Given the description of an element on the screen output the (x, y) to click on. 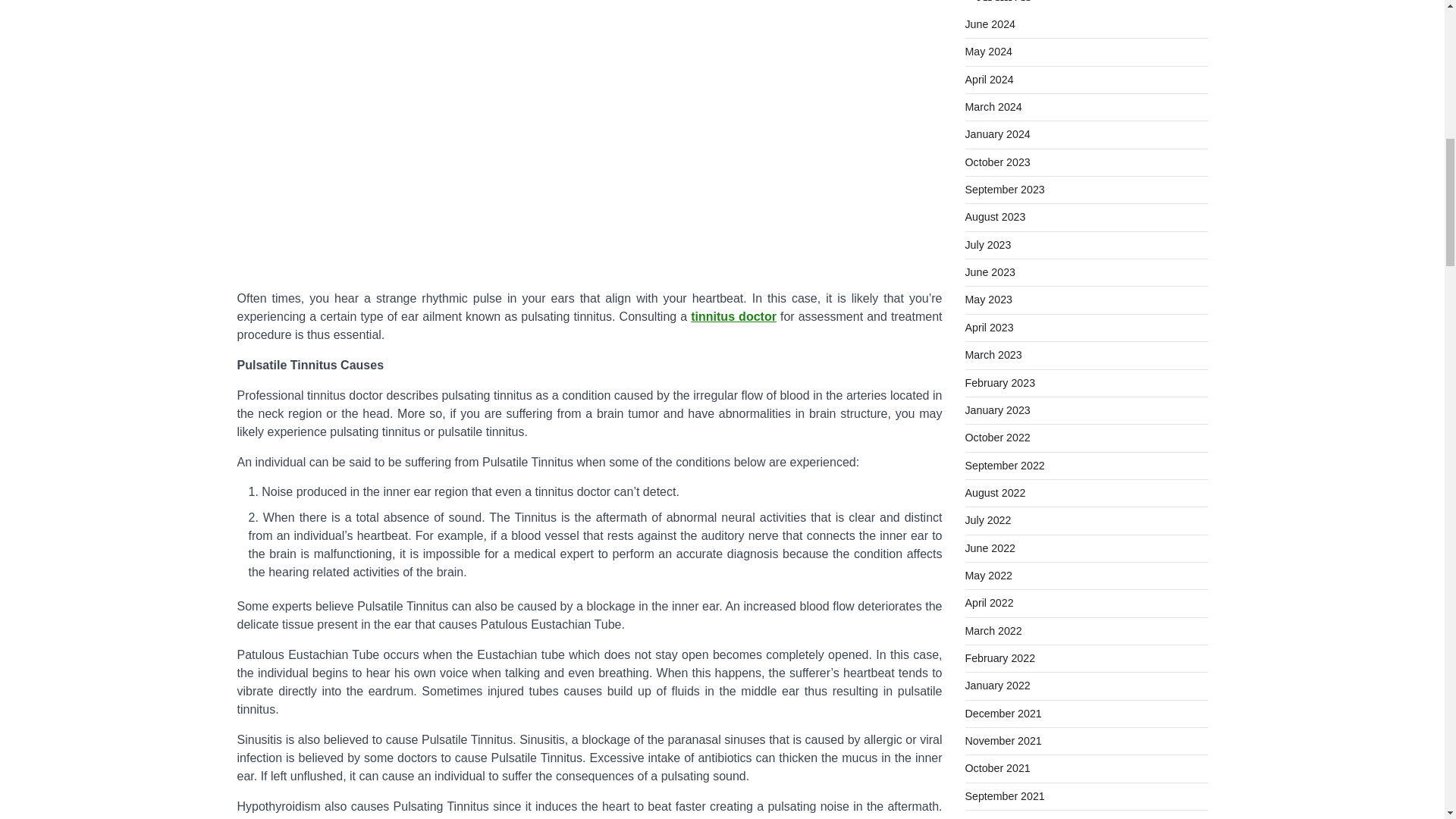
March 2024 (992, 106)
February 2023 (999, 381)
October 2023 (996, 162)
August 2023 (994, 216)
January 2023 (996, 410)
tinnitus doctor (733, 316)
April 2024 (988, 79)
April 2023 (988, 327)
October 2022 (996, 437)
July 2023 (986, 244)
March 2023 (992, 354)
May 2024 (987, 51)
January 2024 (996, 133)
September 2023 (1003, 189)
June 2023 (988, 272)
